Given the description of an element on the screen output the (x, y) to click on. 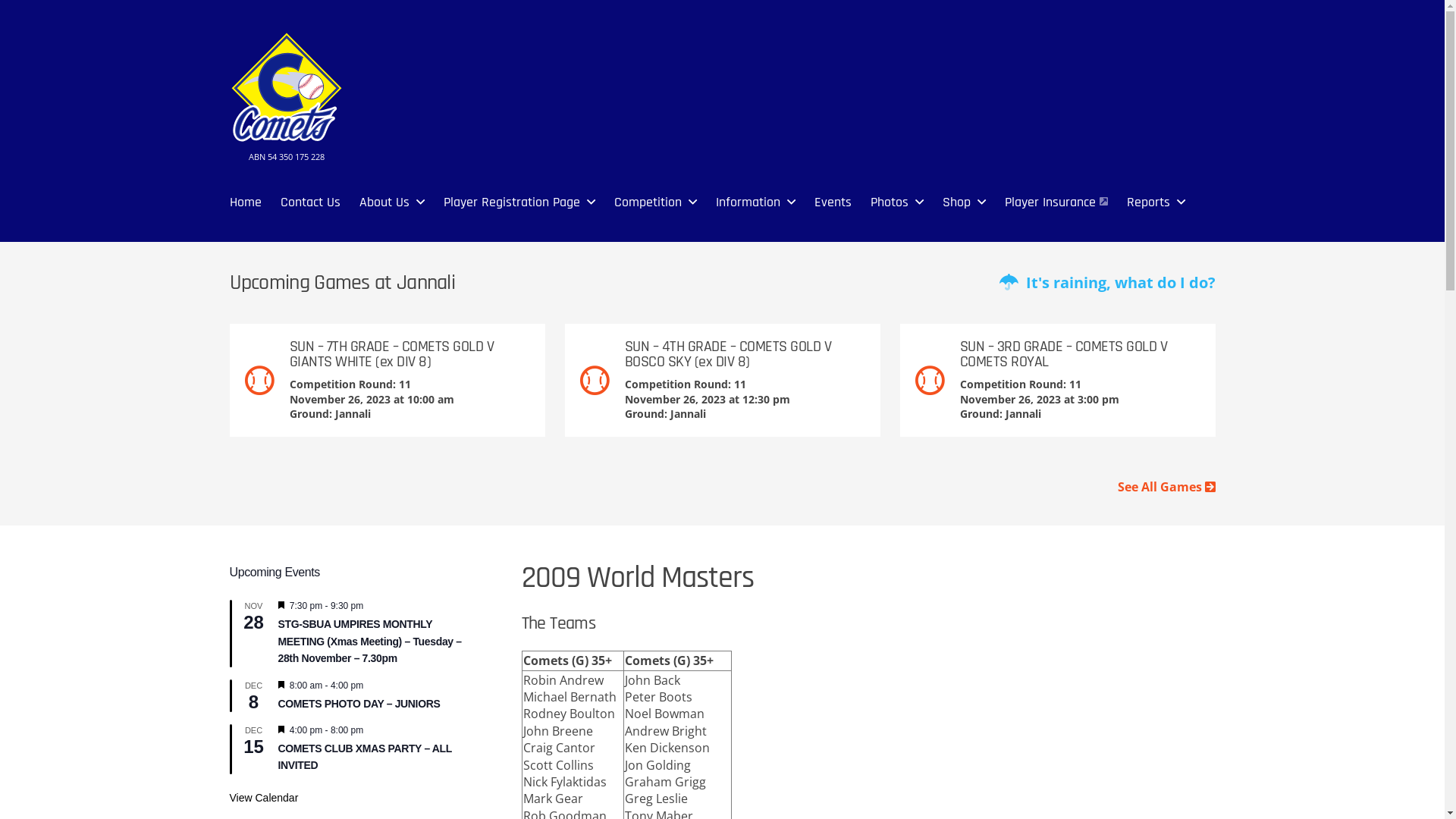
It's raining, what do I do? Element type: text (1107, 282)
Player Insurance Element type: text (1055, 201)
Contact Us Element type: text (310, 201)
About Us Element type: text (384, 201)
Photos Element type: text (889, 201)
View Calendar Element type: text (263, 797)
Reports Element type: text (1148, 201)
Information Element type: text (747, 201)
Home Element type: text (244, 201)
Shop Element type: text (955, 201)
See All Games Element type: text (1166, 486)
Events Element type: text (832, 201)
Player Registration Page Element type: text (510, 201)
Competition Element type: text (647, 201)
